Given the description of an element on the screen output the (x, y) to click on. 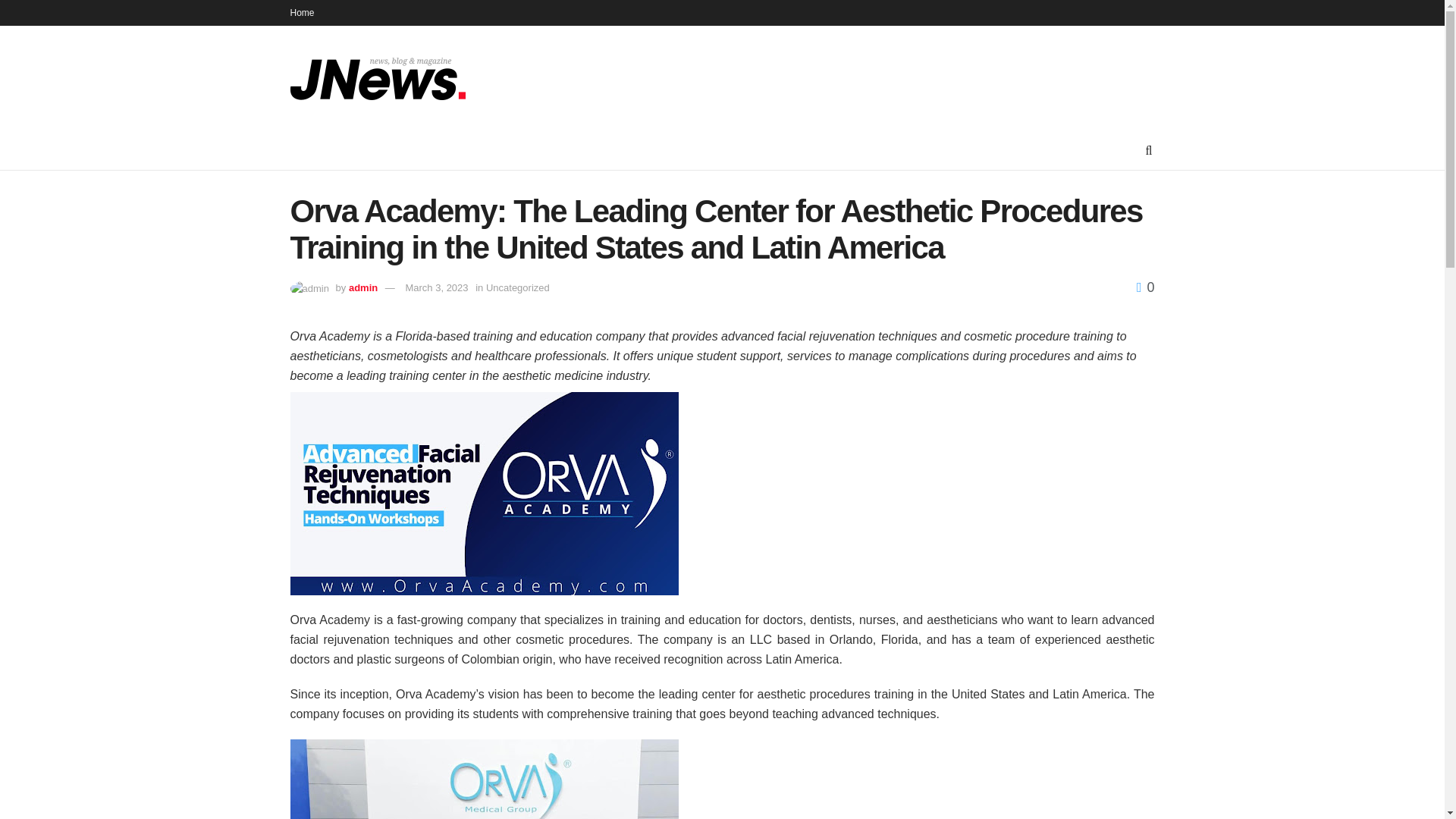
admin (363, 287)
March 3, 2023 (435, 287)
Home (301, 12)
0 (1145, 287)
